Given the description of an element on the screen output the (x, y) to click on. 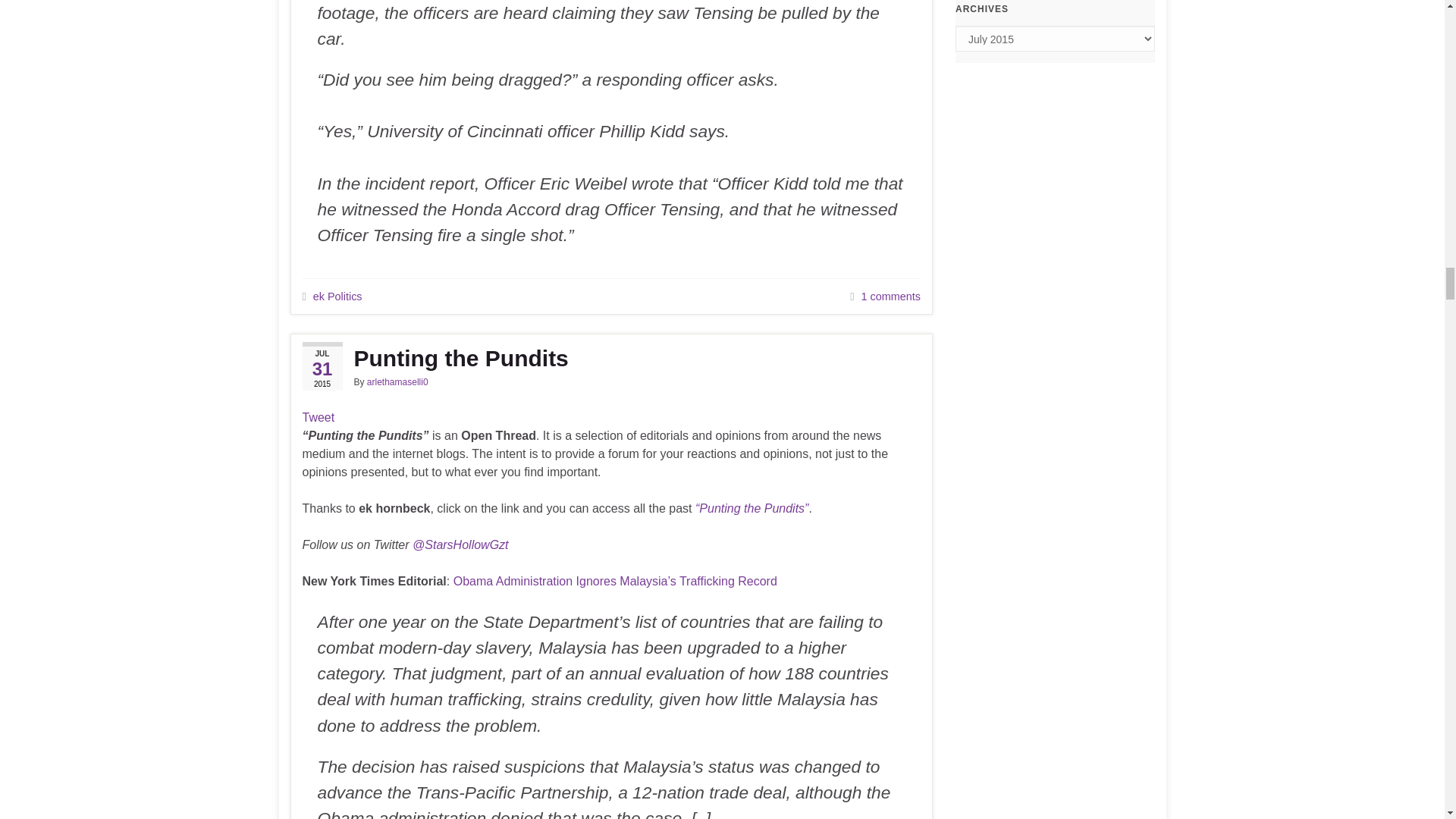
Permalink to Punting the Pundits (610, 358)
